Given the description of an element on the screen output the (x, y) to click on. 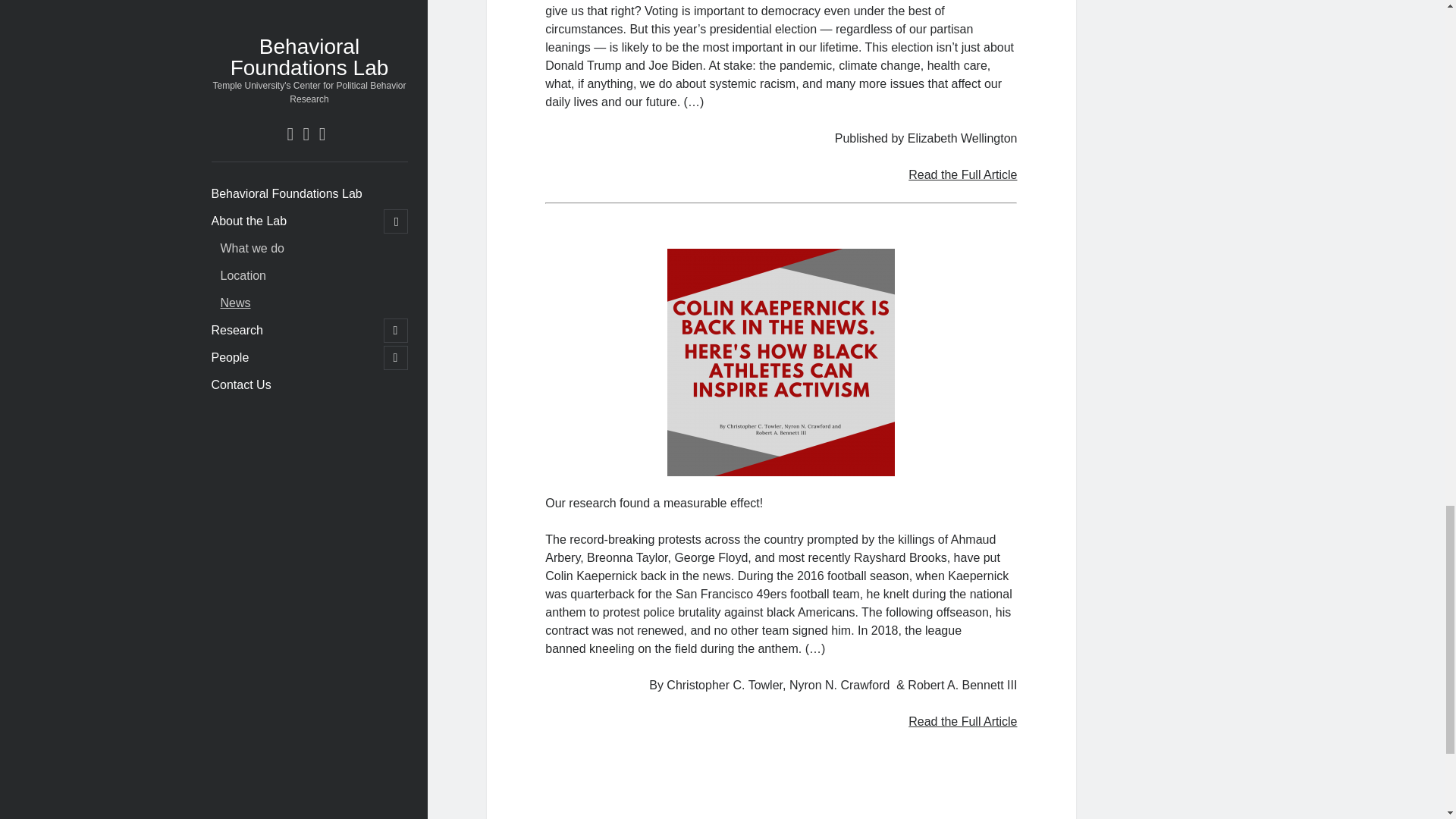
Read the Full Article (962, 721)
Read the Full Article (962, 174)
